Given the description of an element on the screen output the (x, y) to click on. 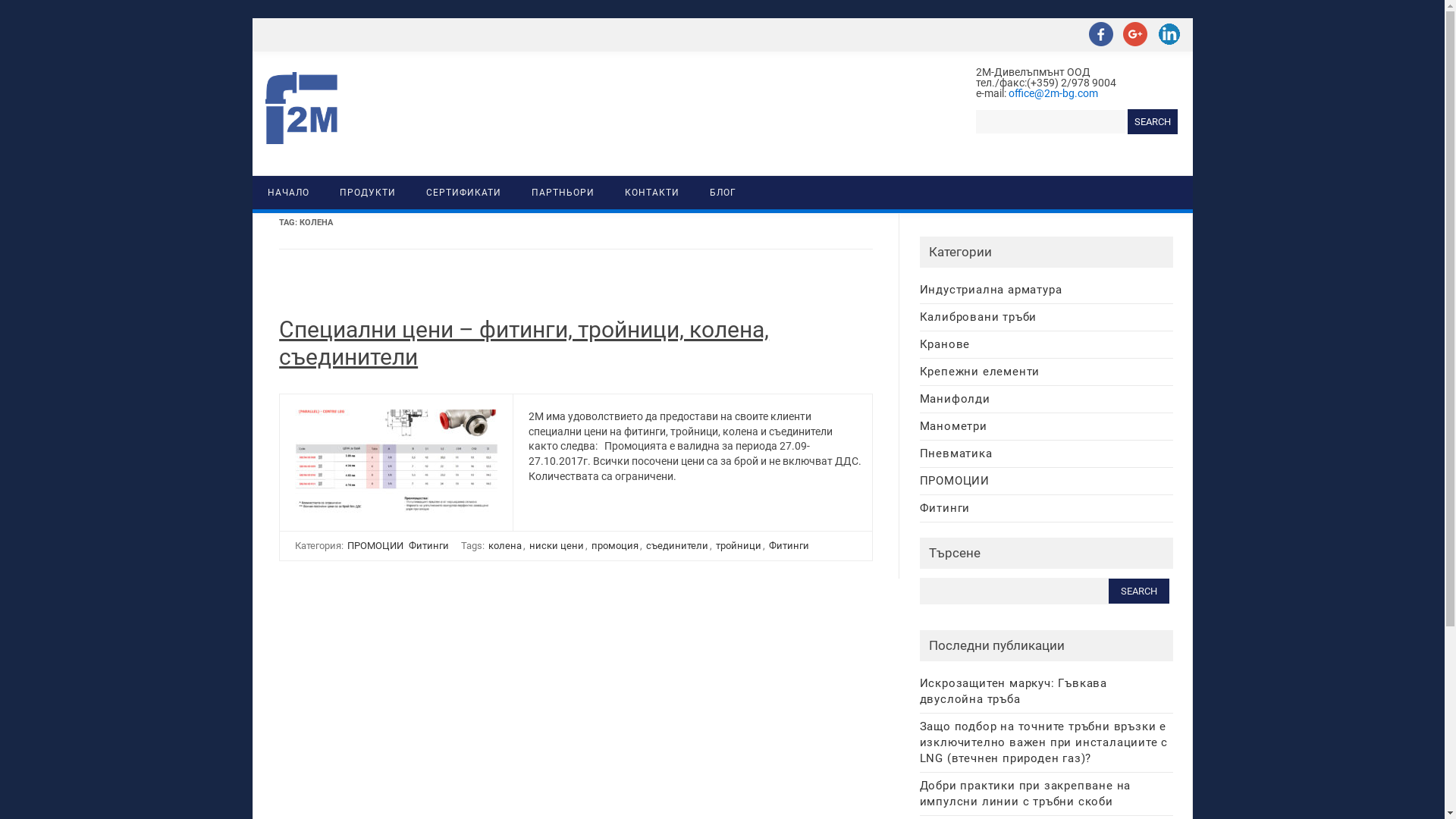
office@2m-bg.com Element type: text (1053, 93)
Skip to content Element type: text (756, 180)
Search Element type: text (1138, 590)
Search Element type: text (1151, 121)
